Given the description of an element on the screen output the (x, y) to click on. 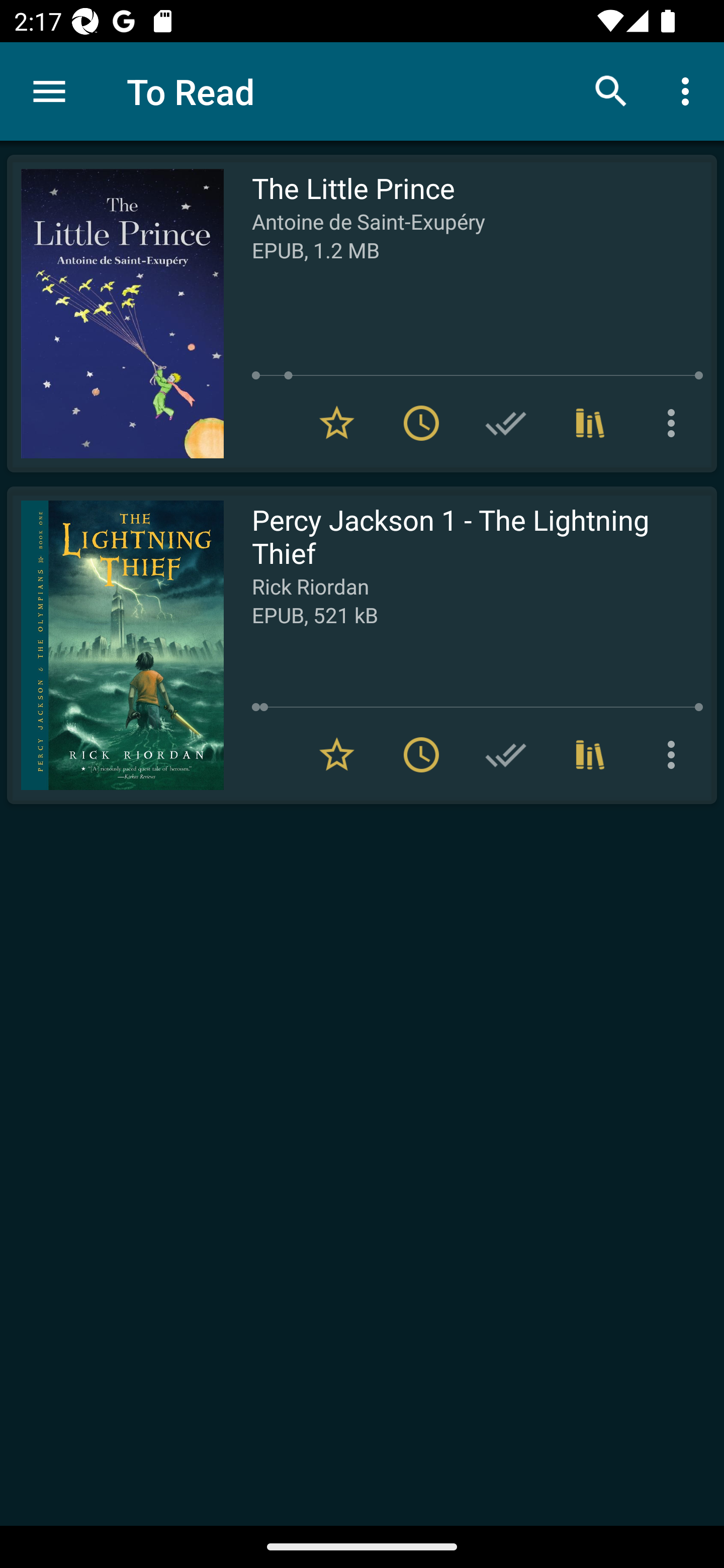
Menu (49, 91)
Search books & documents (611, 90)
More options (688, 90)
Read The Little Prince (115, 313)
Remove from Favorites (336, 423)
Remove from To read (421, 423)
Add to Have read (505, 423)
Collections (1) (590, 423)
More options (674, 423)
Read Percy Jackson 1 - The Lightning Thief (115, 645)
Remove from Favorites (336, 753)
Remove from To read (421, 753)
Add to Have read (505, 753)
Collections (1) (590, 753)
More options (674, 753)
